Given the description of an element on the screen output the (x, y) to click on. 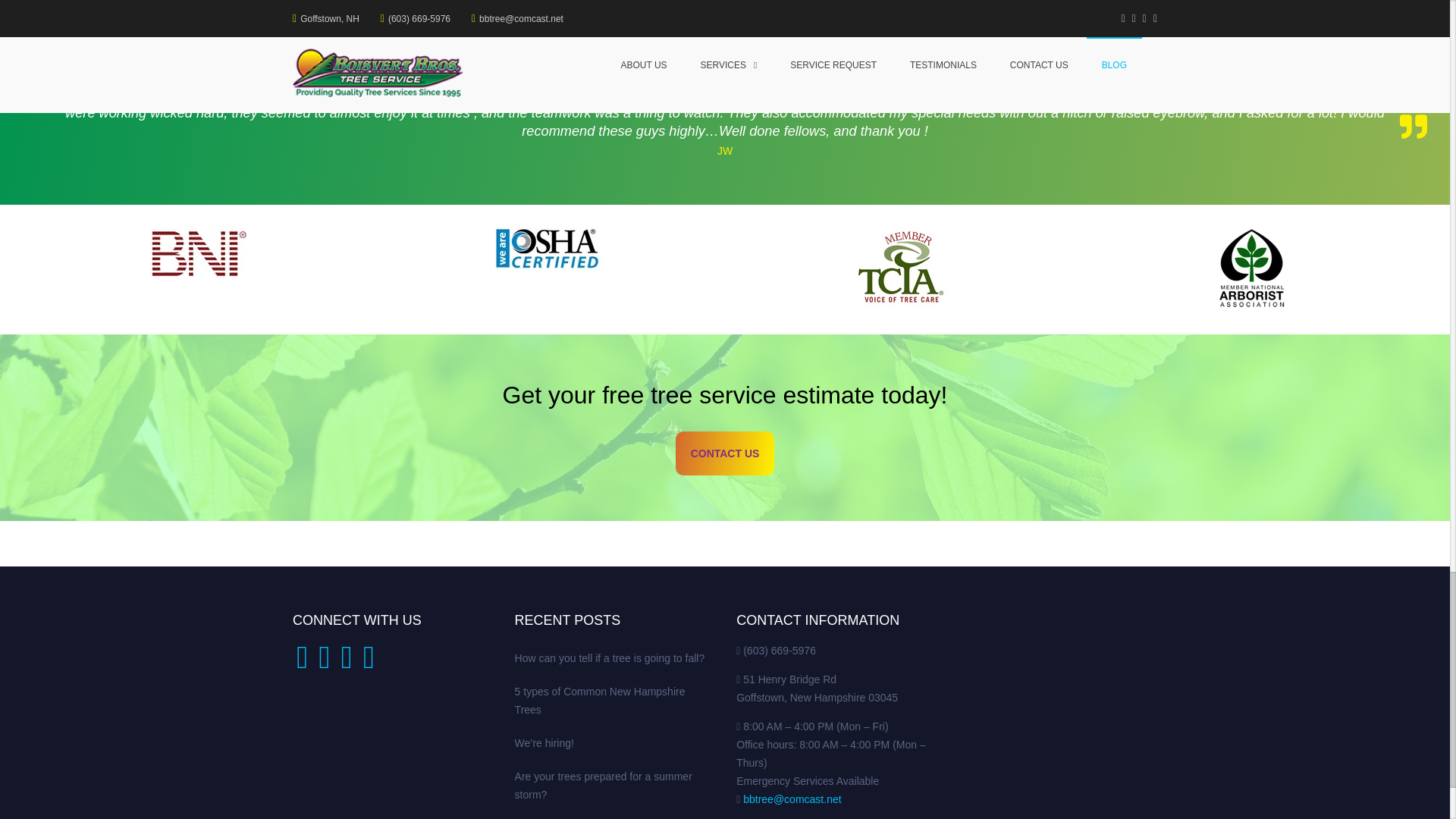
TCIA (899, 269)
LinkedIn (345, 664)
When should I prune or trim my tree? (376, 7)
BNI (198, 269)
OSHA Certified (549, 248)
Facebook (301, 664)
4 Reasons you should remove that tree stump (762, 7)
BNI (198, 253)
TCIA (899, 266)
OSHA certified (549, 269)
National Arborist Association (1251, 269)
Pinterest (368, 664)
5 types of Common New Hampshire Trees (567, 7)
Member of the National Arborist Association (1251, 267)
Yelp (323, 664)
